Given the description of an element on the screen output the (x, y) to click on. 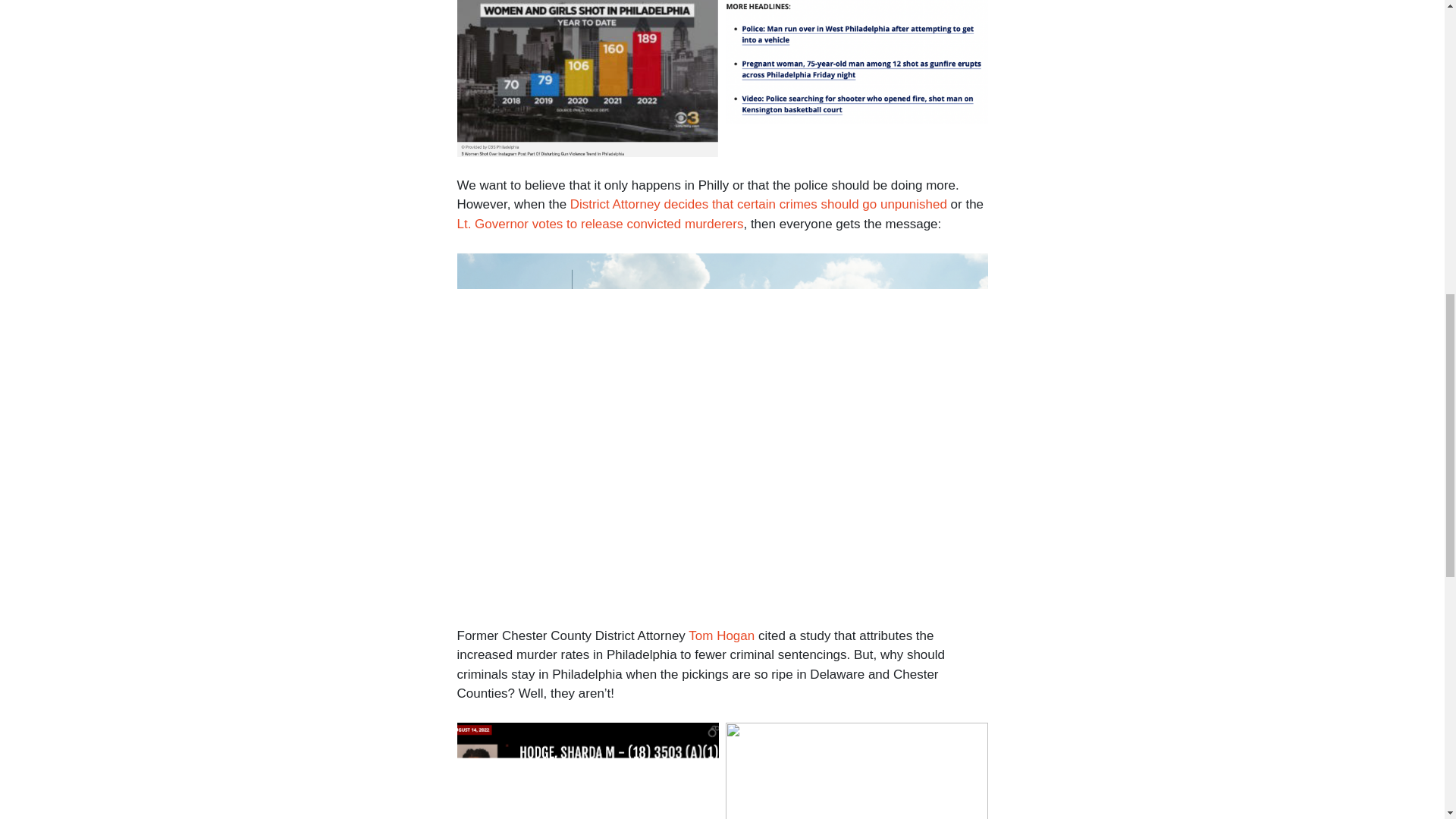
Lt. Governor votes to release convicted murderers (599, 223)
Tom Hogan (721, 635)
